Given the description of an element on the screen output the (x, y) to click on. 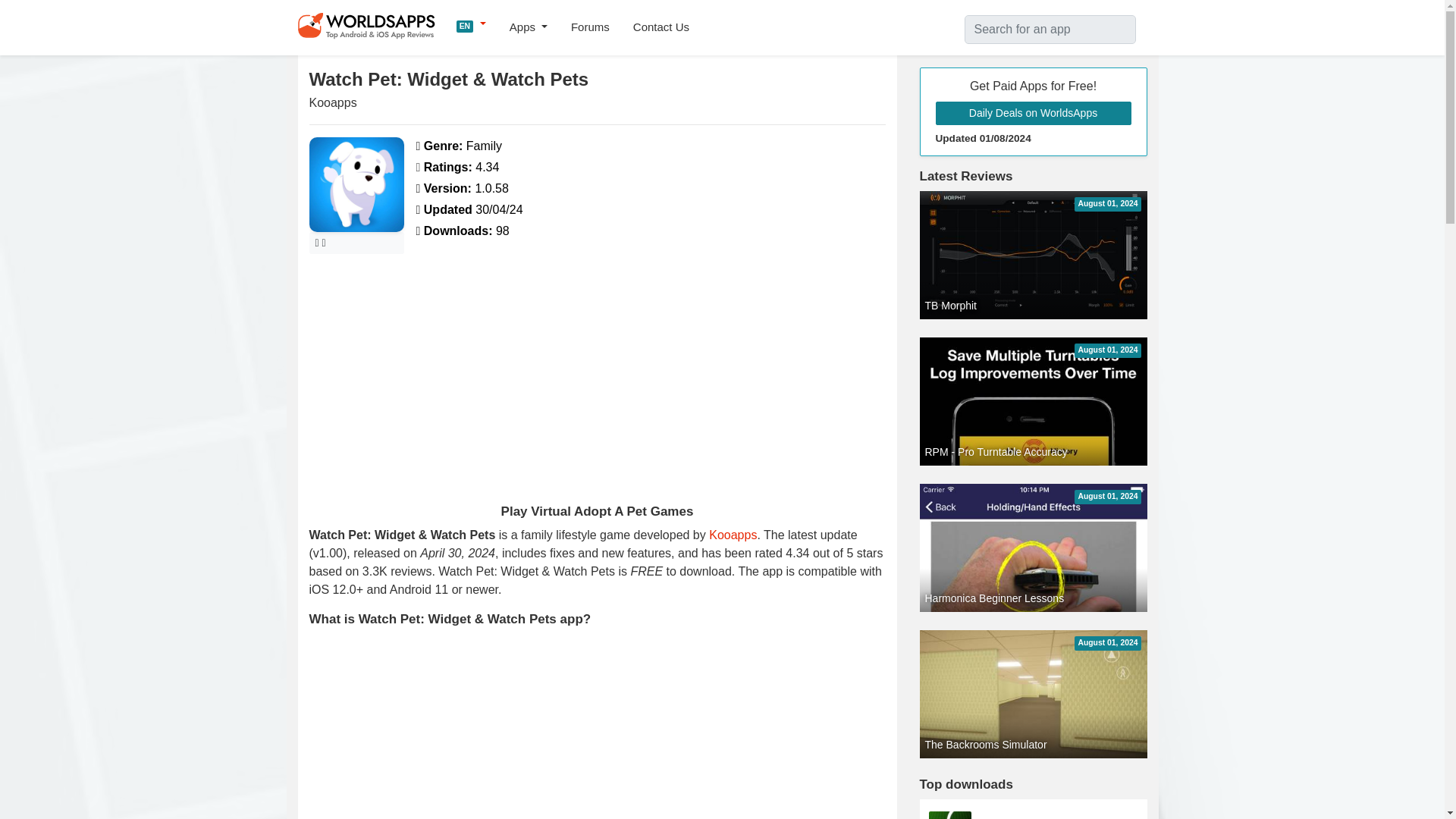
Download TB Morphit App (1032, 254)
oO (1032, 815)
EN (471, 24)
RPM - Pro Turntable Accuracy (1032, 538)
Harmonica Beginner Lessons (1032, 684)
Download The Backrooms Simulator App (1032, 693)
Daily Deals on WorldsApps (1033, 113)
Download oO App (1032, 815)
Download RPM - Pro Turntable Accuracy App (1032, 538)
Kooapps (733, 534)
Contact Us (660, 27)
Download Harmonica Beginner Lessons App (1032, 684)
TB Morphit (1032, 254)
The Backrooms Simulator (1032, 693)
